Given the description of an element on the screen output the (x, y) to click on. 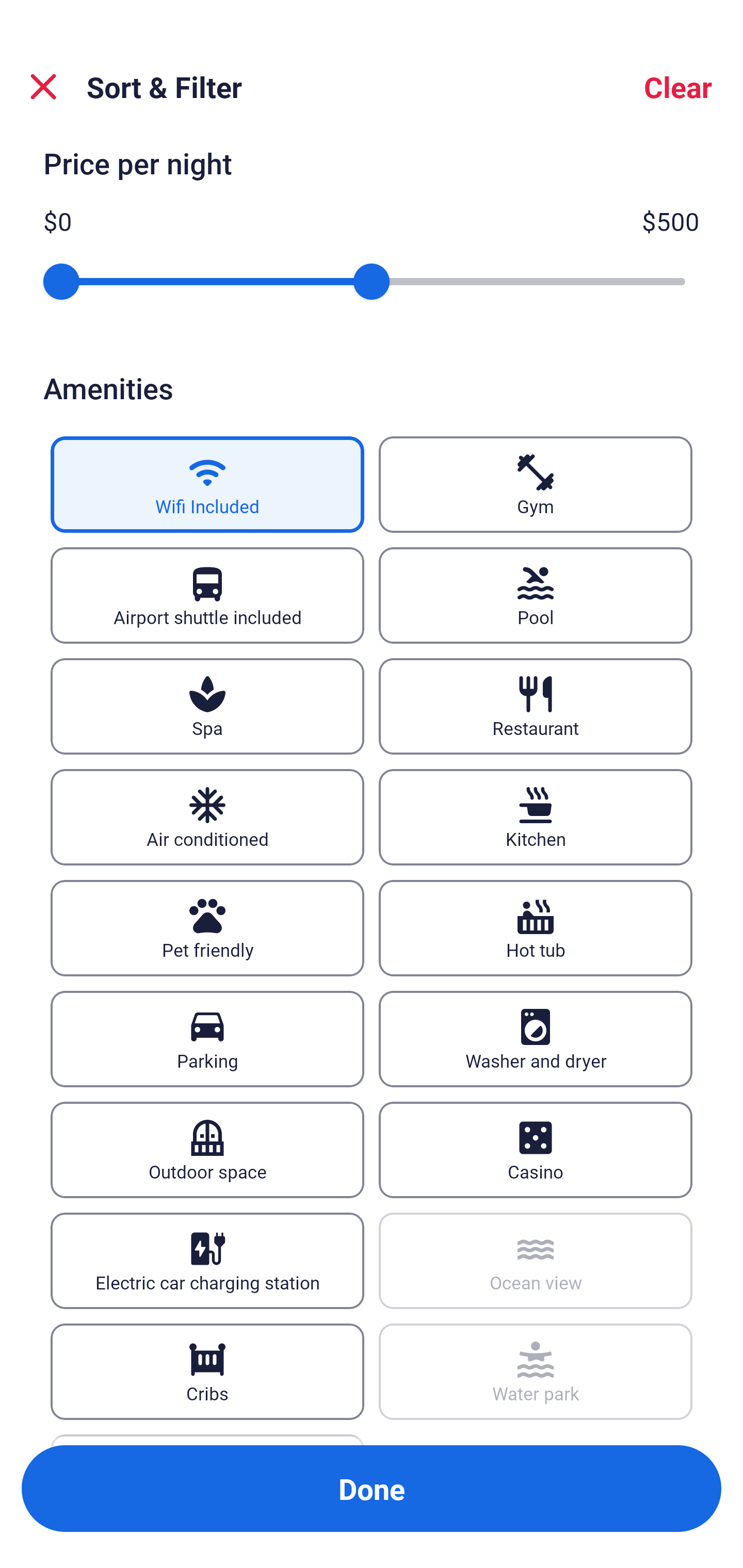
Close Sort and Filter (43, 86)
Clear (677, 86)
Wifi Included (207, 484)
Gym (535, 484)
Airport shuttle included (207, 595)
Pool (535, 595)
Spa (207, 706)
Restaurant (535, 706)
Air conditioned (207, 816)
Kitchen (535, 816)
Pet friendly (207, 927)
Hot tub (535, 927)
Parking (207, 1038)
Washer and dryer (535, 1038)
Outdoor space (207, 1149)
Casino (535, 1149)
Electric car charging station (207, 1260)
Ocean view (535, 1260)
Cribs (207, 1371)
Water park (535, 1371)
Apply and close Sort and Filter Done (371, 1488)
